Given the description of an element on the screen output the (x, y) to click on. 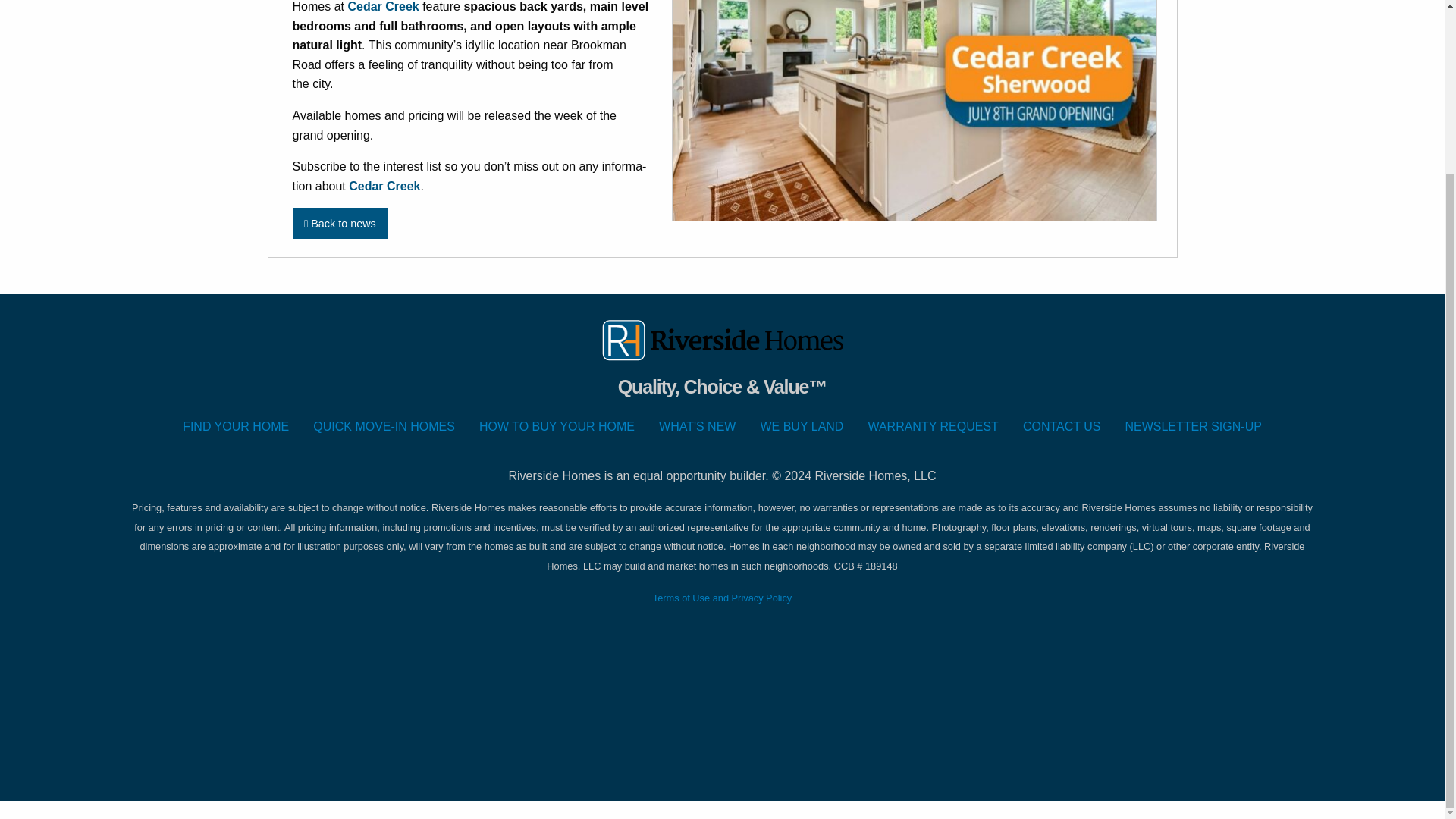
HOW TO BUY YOUR HOME (556, 426)
Back to news (340, 223)
CONTACT US (1061, 426)
Terms of Use and Privacy Policy (722, 596)
NEWSLETTER SIGN-UP (1192, 426)
Cedar Creek (383, 6)
QUICK MOVE-IN HOMES (384, 426)
Cedar Creek (384, 185)
WARRANTY REQUEST (933, 426)
WHAT'S NEW (697, 426)
WE BUY LAND (802, 426)
FIND YOUR HOME (235, 426)
